Given the description of an element on the screen output the (x, y) to click on. 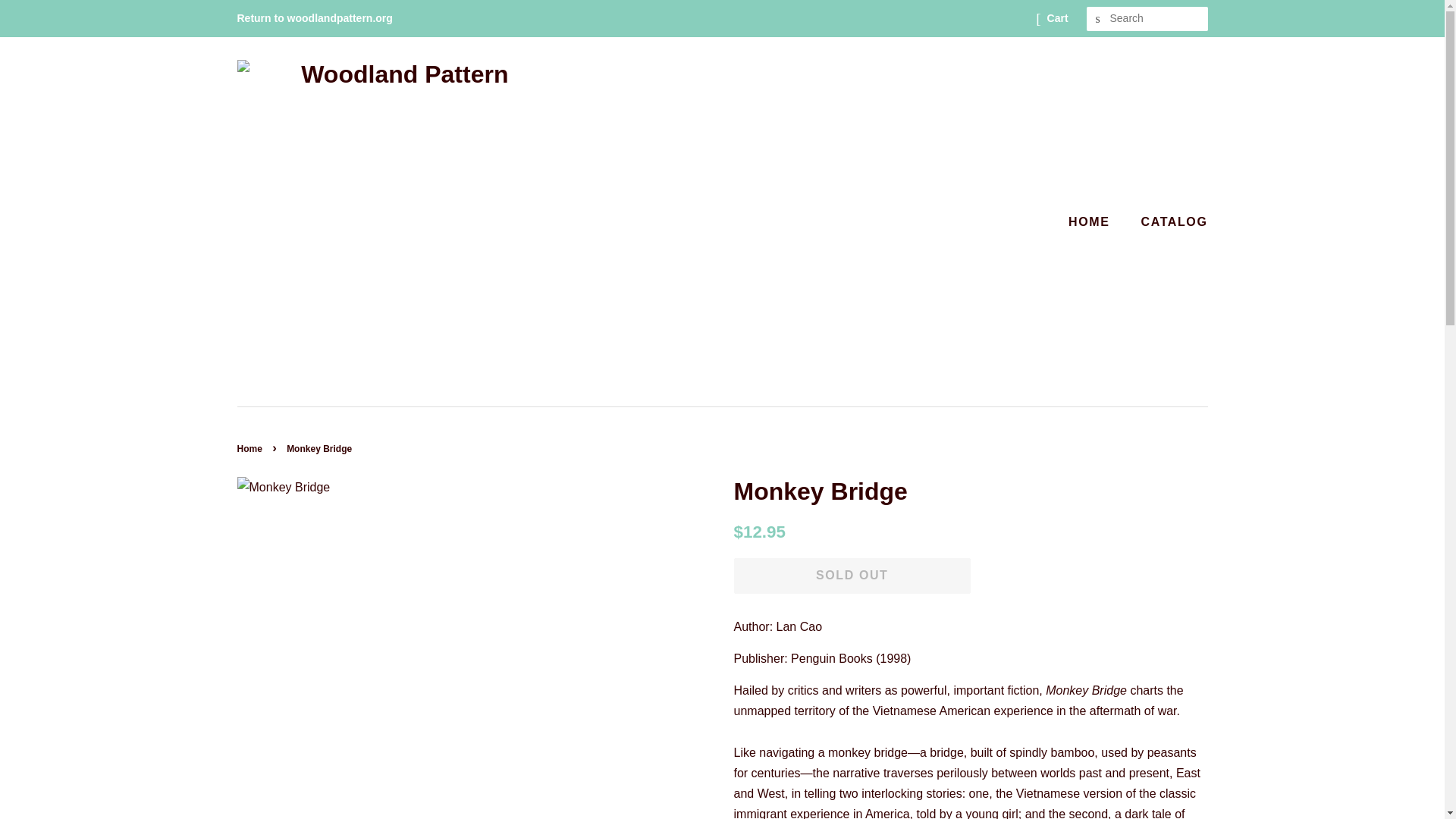
SEARCH (1097, 18)
CATALOG (1168, 221)
Cart (1057, 18)
Return to woodlandpattern.org (313, 18)
HOME (1096, 221)
Home (249, 448)
Back to the frontpage (249, 448)
SOLD OUT (852, 575)
